Given the description of an element on the screen output the (x, y) to click on. 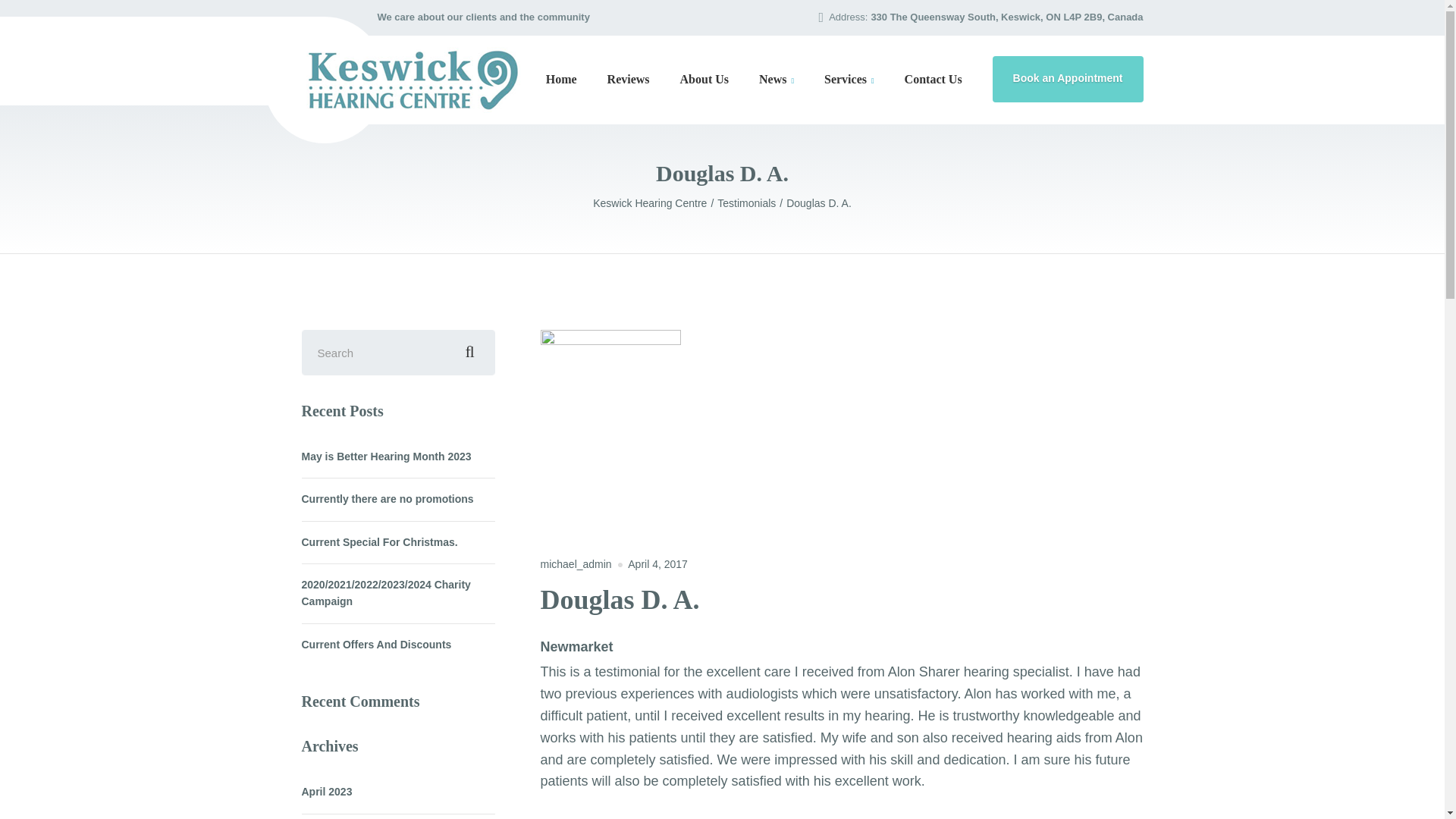
Current Special For Christmas. (379, 541)
Go to Testimonials. (751, 203)
April 2023 (326, 791)
Current Offers And Discounts (376, 644)
Go to Keswick Hearing Centre. (654, 203)
About Us (704, 79)
April 4, 2017 (657, 563)
Testimonials (751, 203)
Contact Us (932, 79)
Currently there are no promotions (387, 498)
Go to Douglas D. A.. (818, 203)
Book an Appointment (1067, 78)
Services (849, 79)
Keswick Hearing Centre (654, 203)
April 2022 (326, 816)
